Given the description of an element on the screen output the (x, y) to click on. 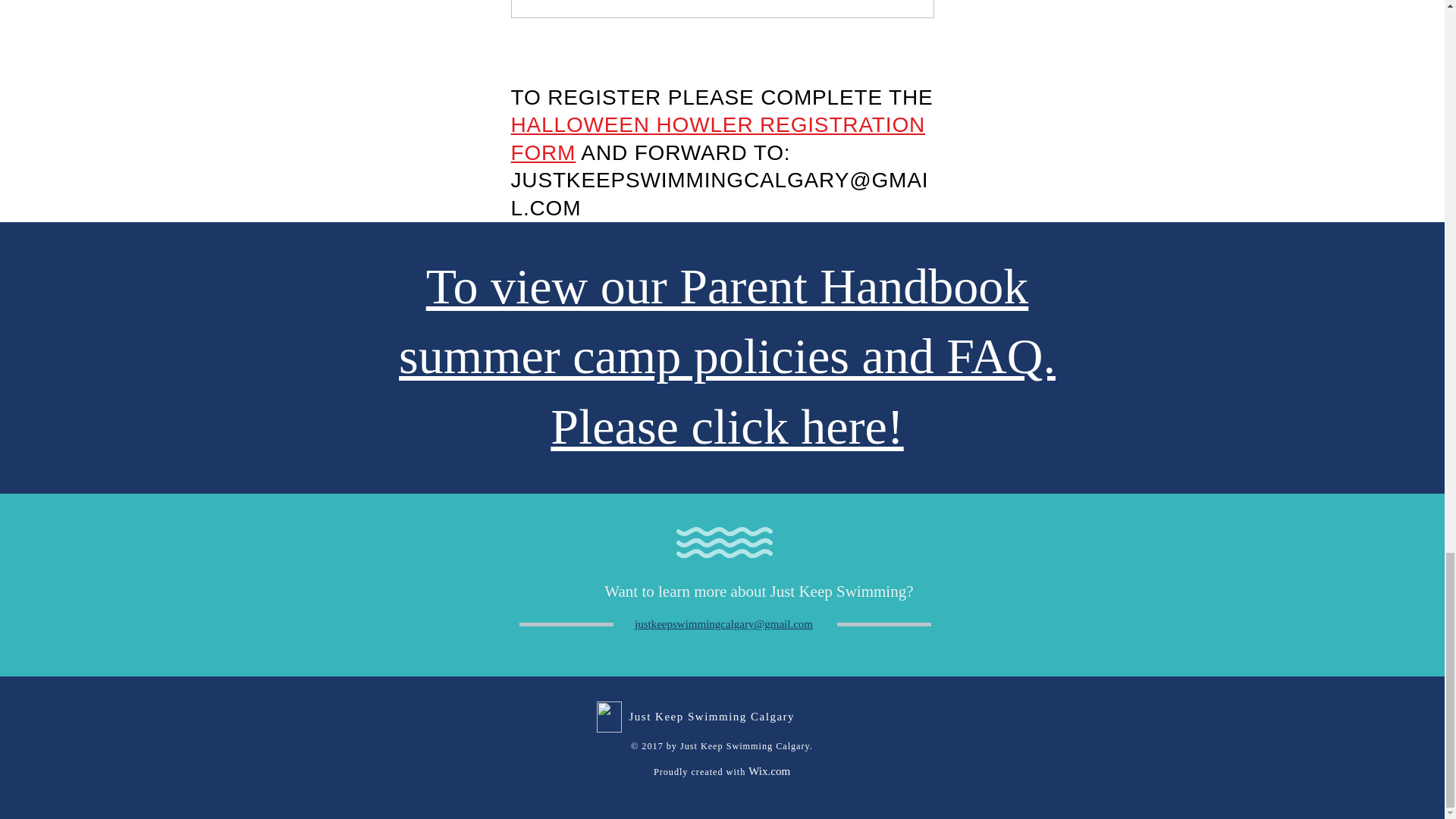
HALLOWEEN HOWLER REGISTRATION FORM (718, 138)
Wix.com (769, 770)
JKS Halloween party ages 13-16.png (722, 9)
